Given the description of an element on the screen output the (x, y) to click on. 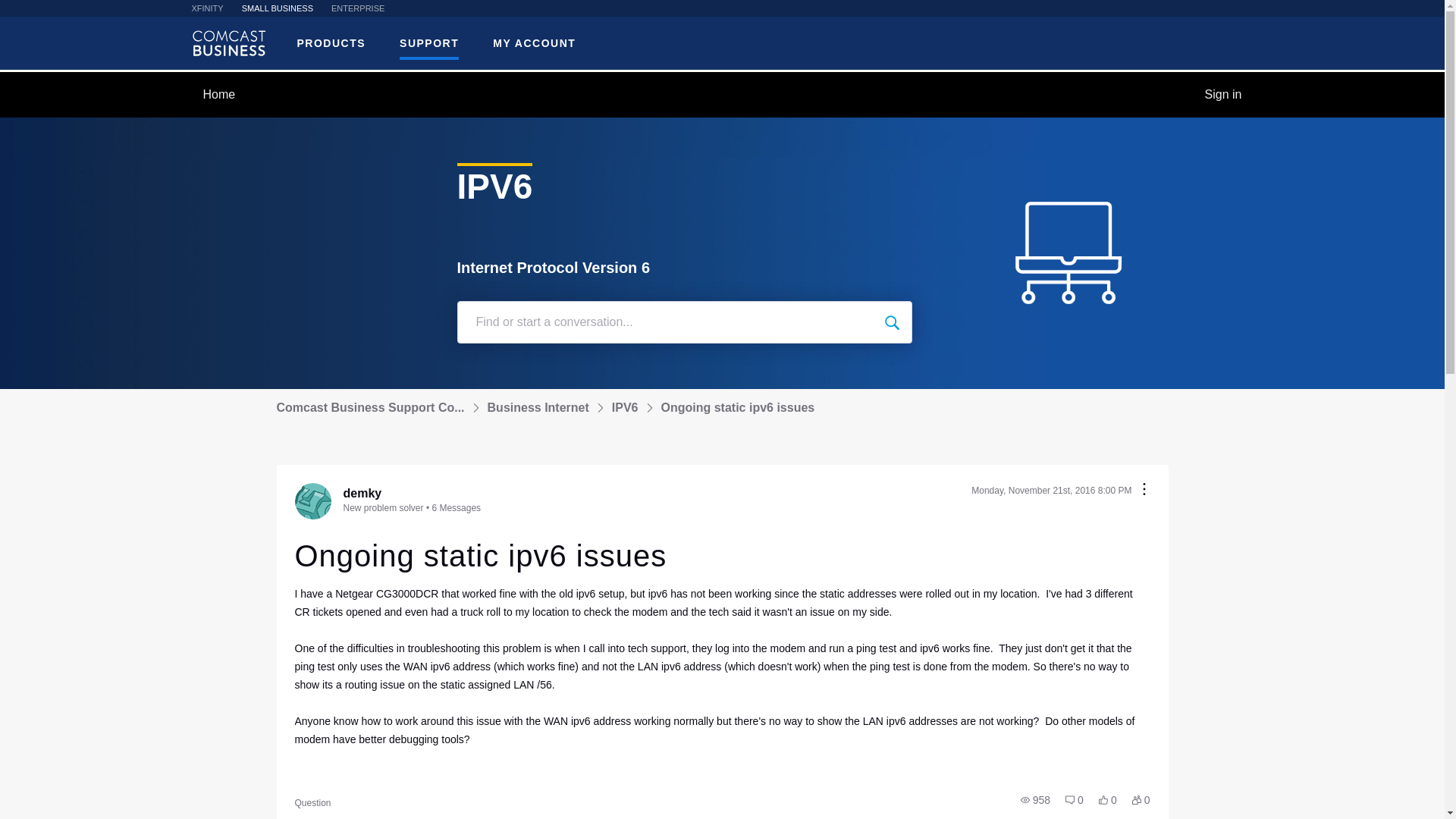
demky (361, 493)
MY ACCOUNT (534, 44)
Comcast Business (228, 43)
Home (218, 94)
PRODUCTS (331, 44)
Comcast Business Support Co... (370, 407)
ENTERPRISE (357, 8)
Business Internet (538, 407)
IPV6 (625, 407)
SUPPORT (428, 44)
